Given the description of an element on the screen output the (x, y) to click on. 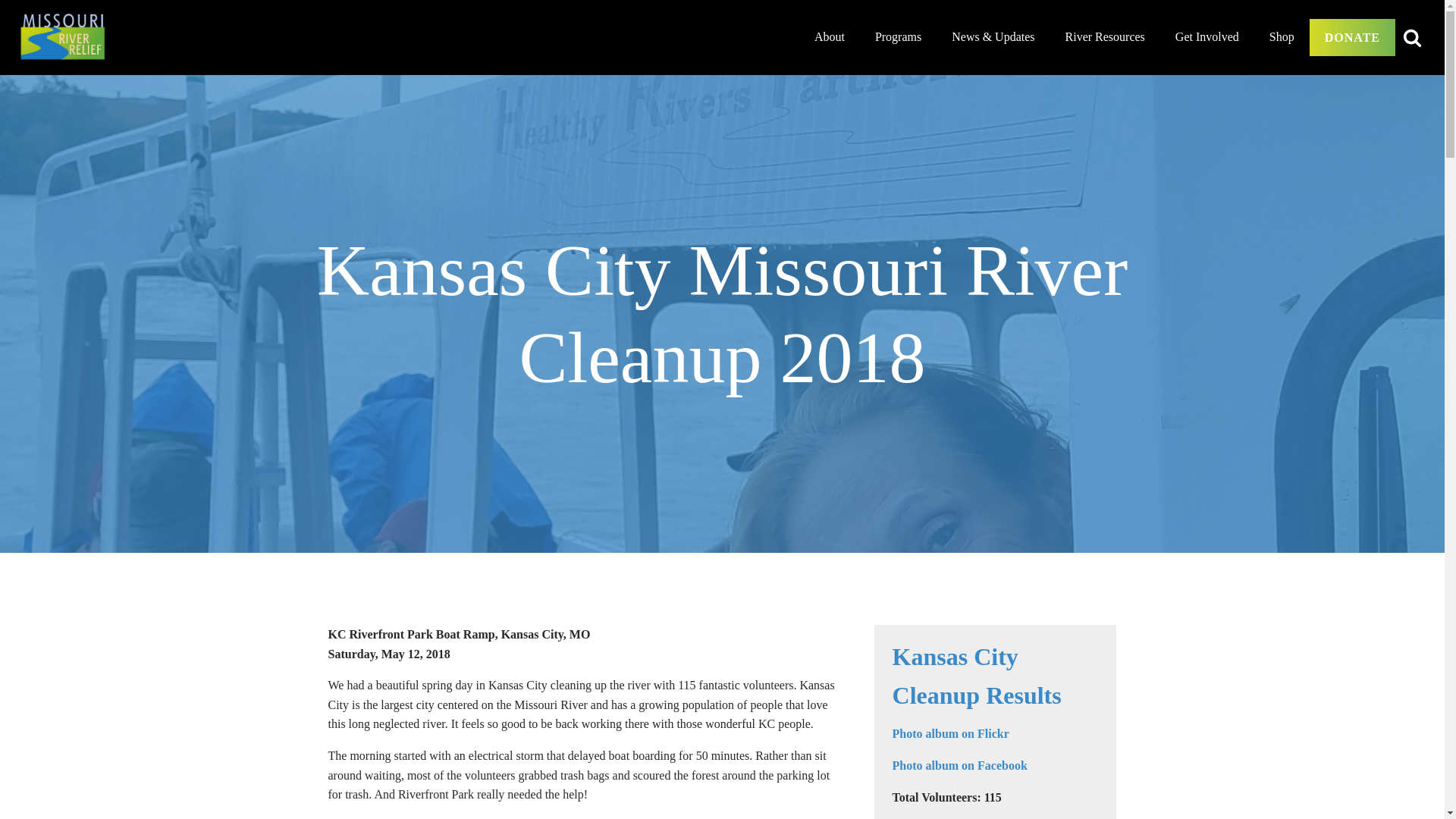
Programs (898, 37)
River Resources (1104, 37)
About (829, 37)
Get Involved (1206, 37)
